Given the description of an element on the screen output the (x, y) to click on. 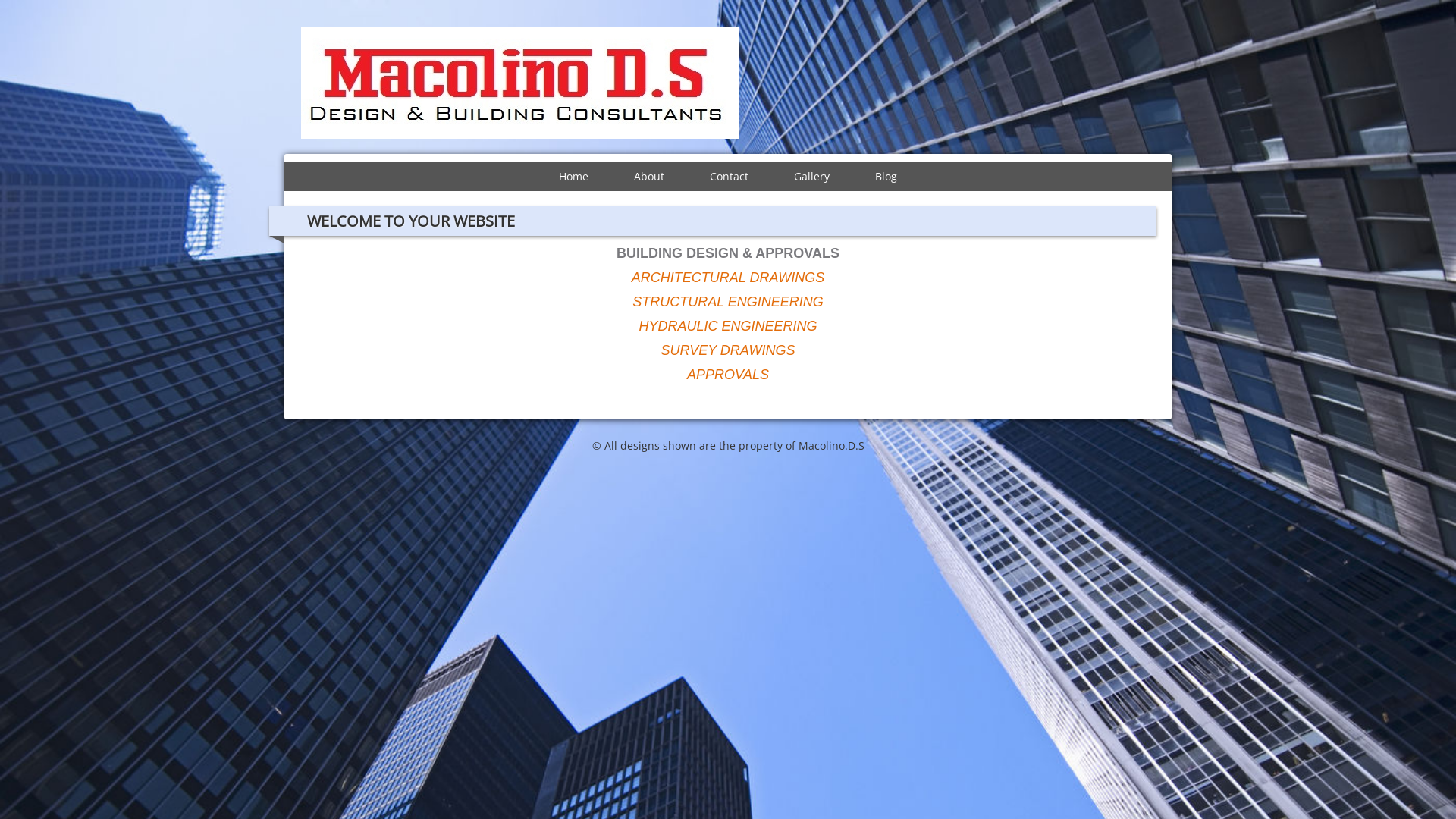
Gallery Element type: text (811, 176)
About Element type: text (649, 176)
Home Element type: text (573, 176)
Contact Element type: text (729, 176)
Blog Element type: text (885, 176)
